Given the description of an element on the screen output the (x, y) to click on. 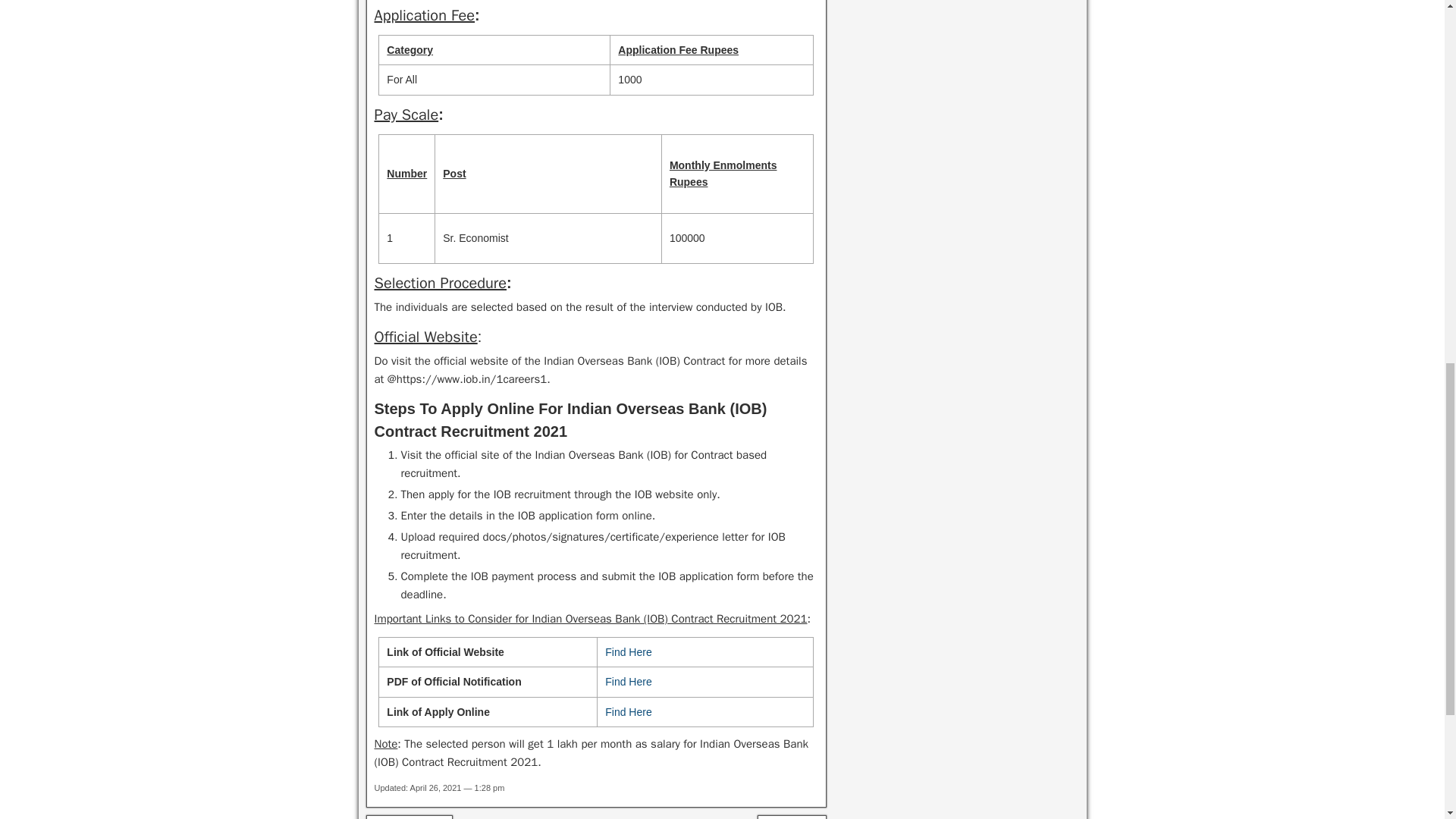
Find Here (627, 681)
Find Here (627, 652)
Find Here (627, 711)
Indian Navy Recruitment 2021: For Sailor's Entry Posts (792, 816)
